Given the description of an element on the screen output the (x, y) to click on. 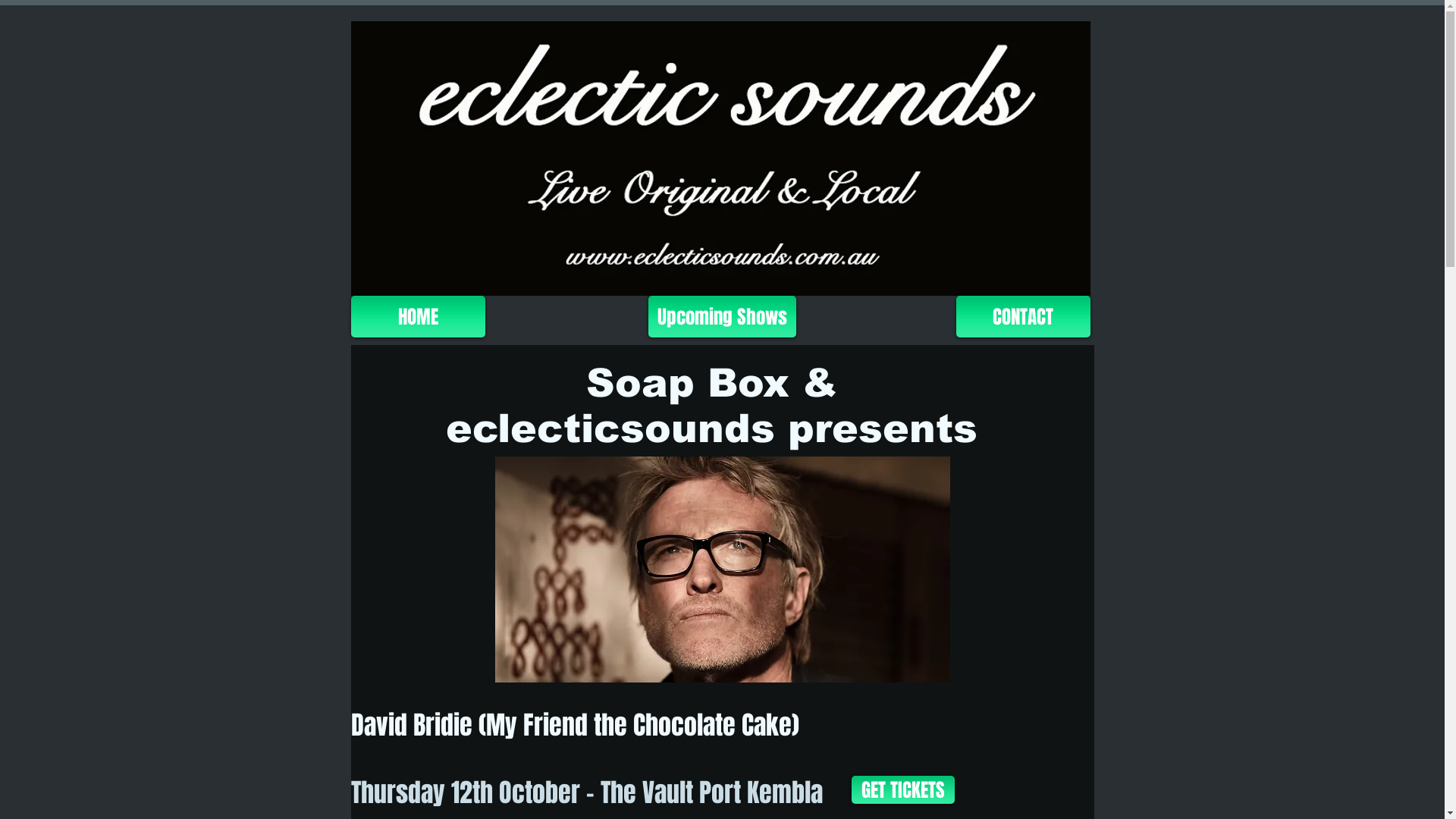
HOME Element type: text (417, 316)
GET TICKETS Element type: text (901, 789)
CONTACT Element type: text (1022, 316)
Upcoming Shows Element type: text (721, 316)
